Given the description of an element on the screen output the (x, y) to click on. 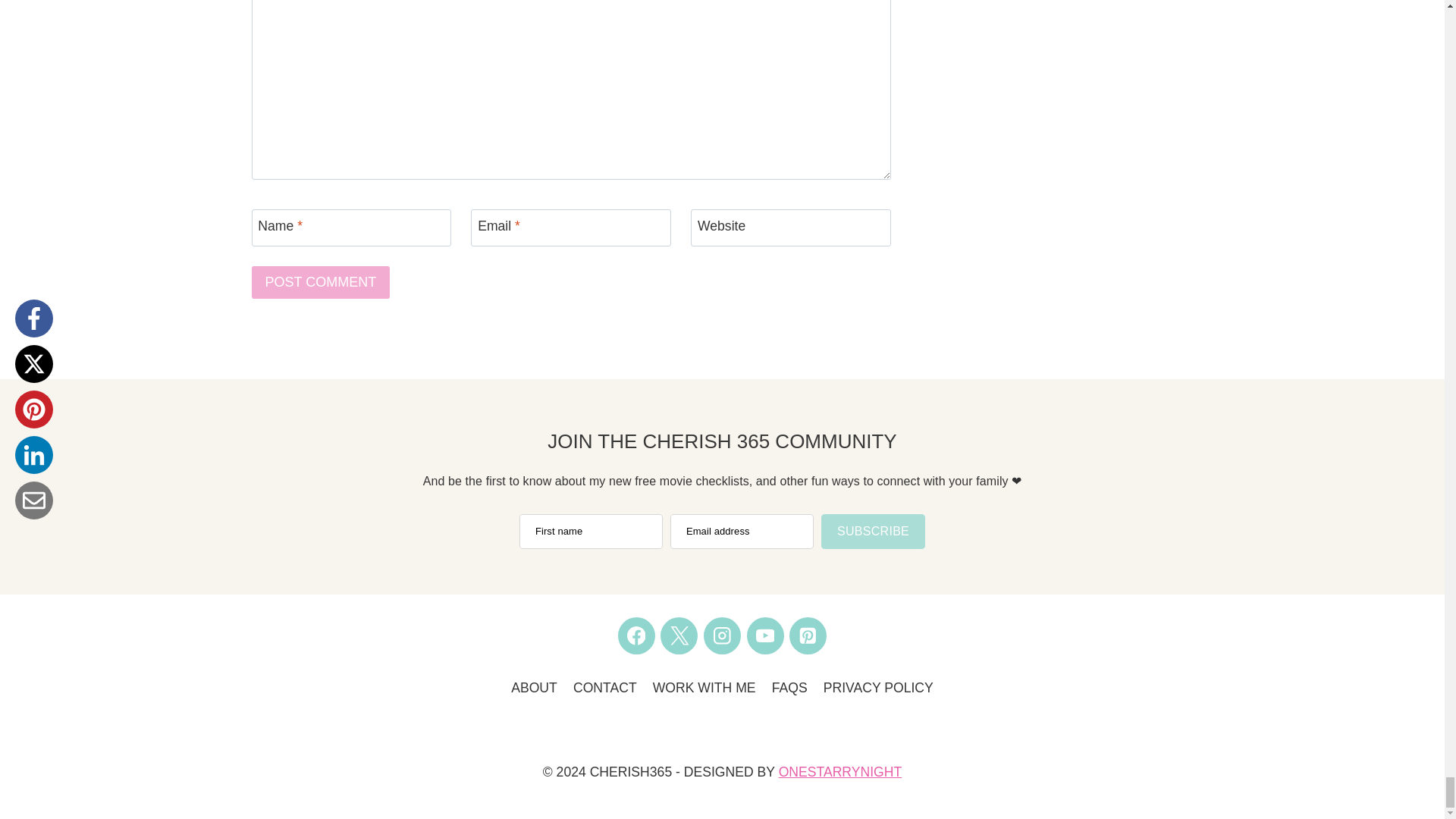
Post Comment (320, 282)
